Given the description of an element on the screen output the (x, y) to click on. 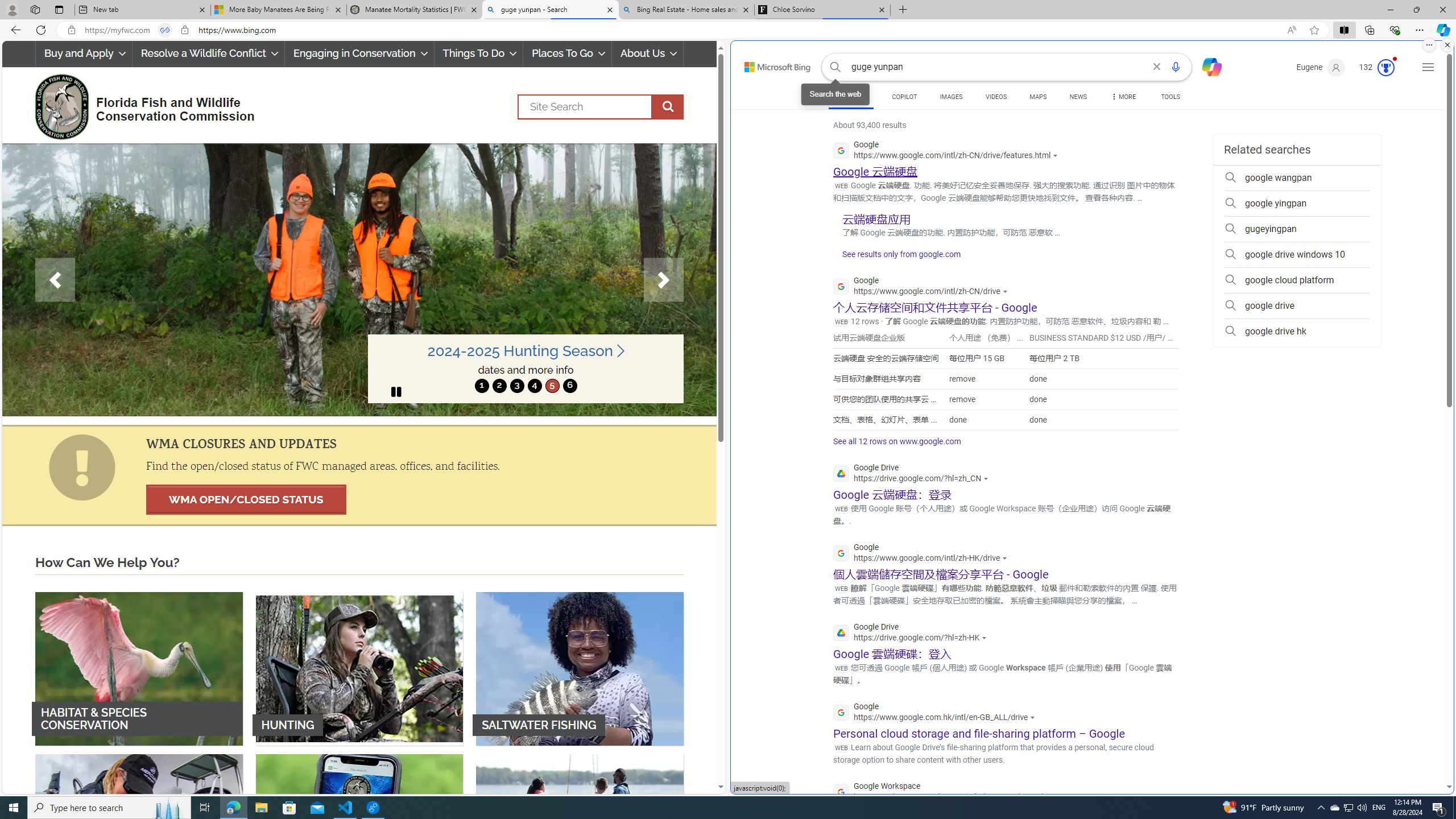
Google Workspace (950, 793)
VIDEOS (995, 98)
slider pause button (396, 391)
5 (551, 385)
SEARCH (850, 96)
move to slide 2 (499, 385)
